Given the description of an element on the screen output the (x, y) to click on. 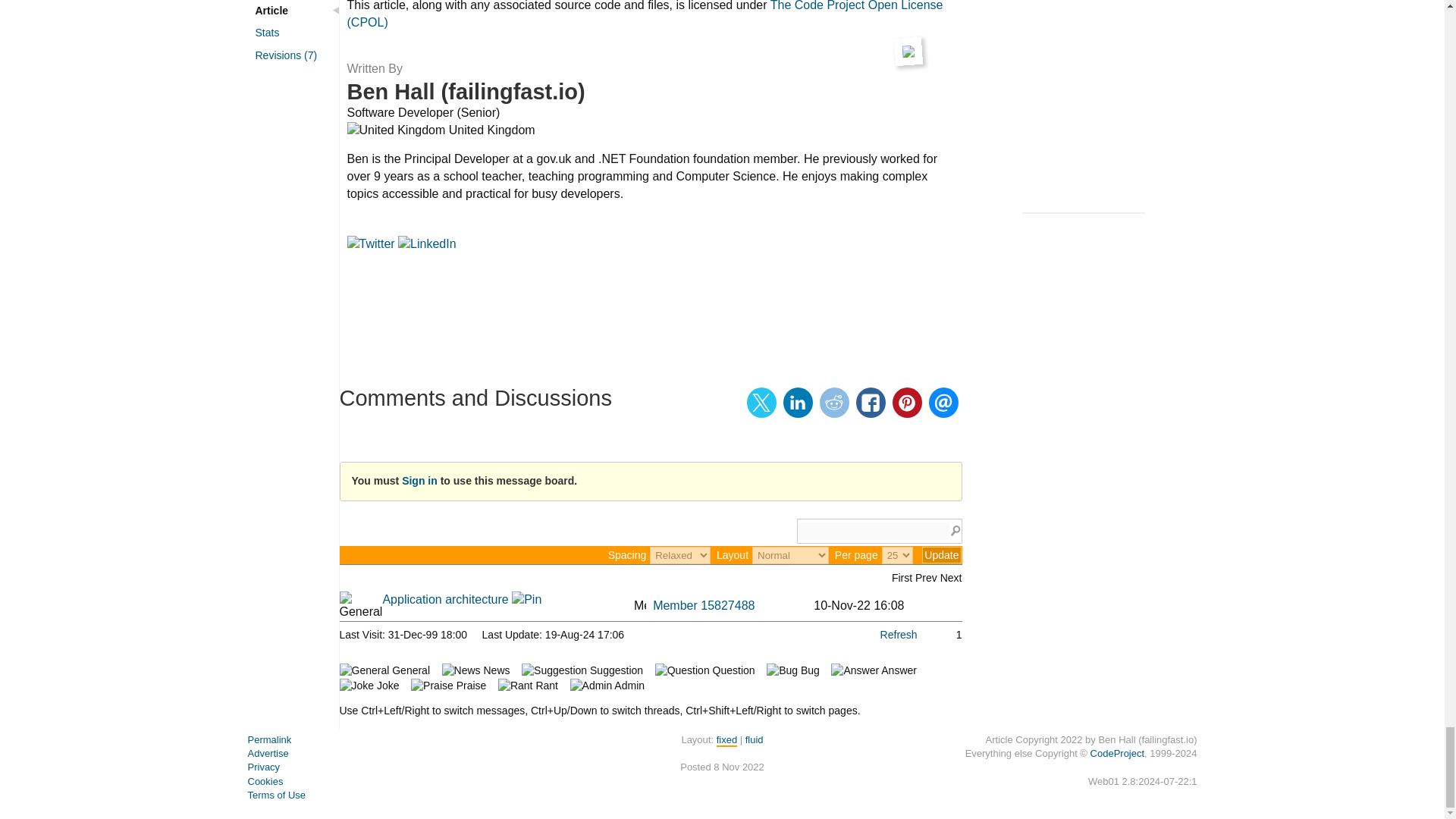
Member (639, 603)
Update (940, 555)
Fixed width layout (726, 739)
General (360, 605)
Click to pin message (526, 599)
